Given the description of an element on the screen output the (x, y) to click on. 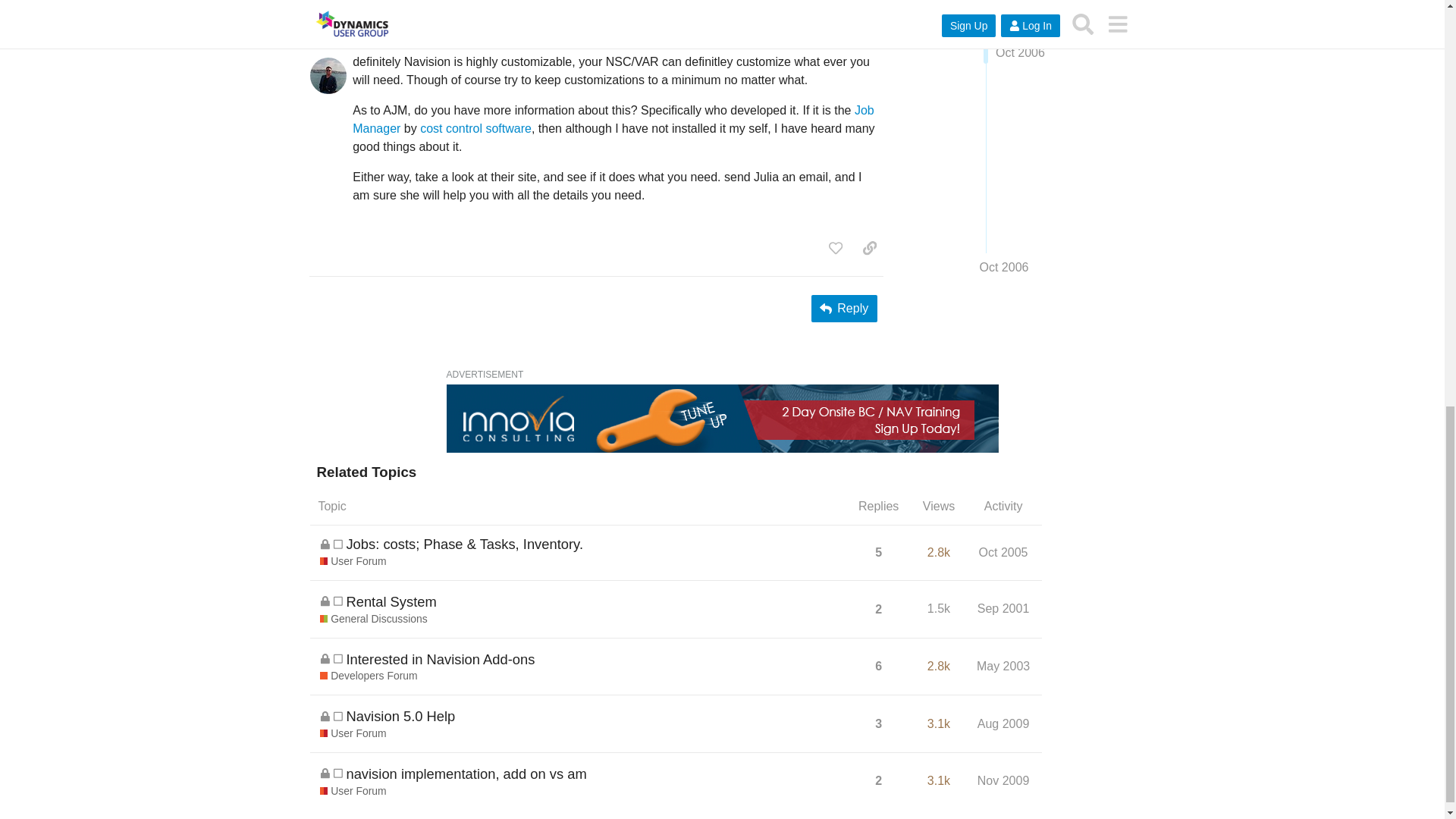
Job Manager (612, 119)
Oct 2005 (1003, 552)
User Forum (353, 561)
2 (877, 609)
5 (877, 552)
Reply (843, 308)
cost control software (475, 128)
General Discussions (374, 619)
Interested in Navision Add-ons (440, 658)
Rental System (390, 601)
Oct 2006 (851, 2)
Sep 2001 (1003, 608)
